Given the description of an element on the screen output the (x, y) to click on. 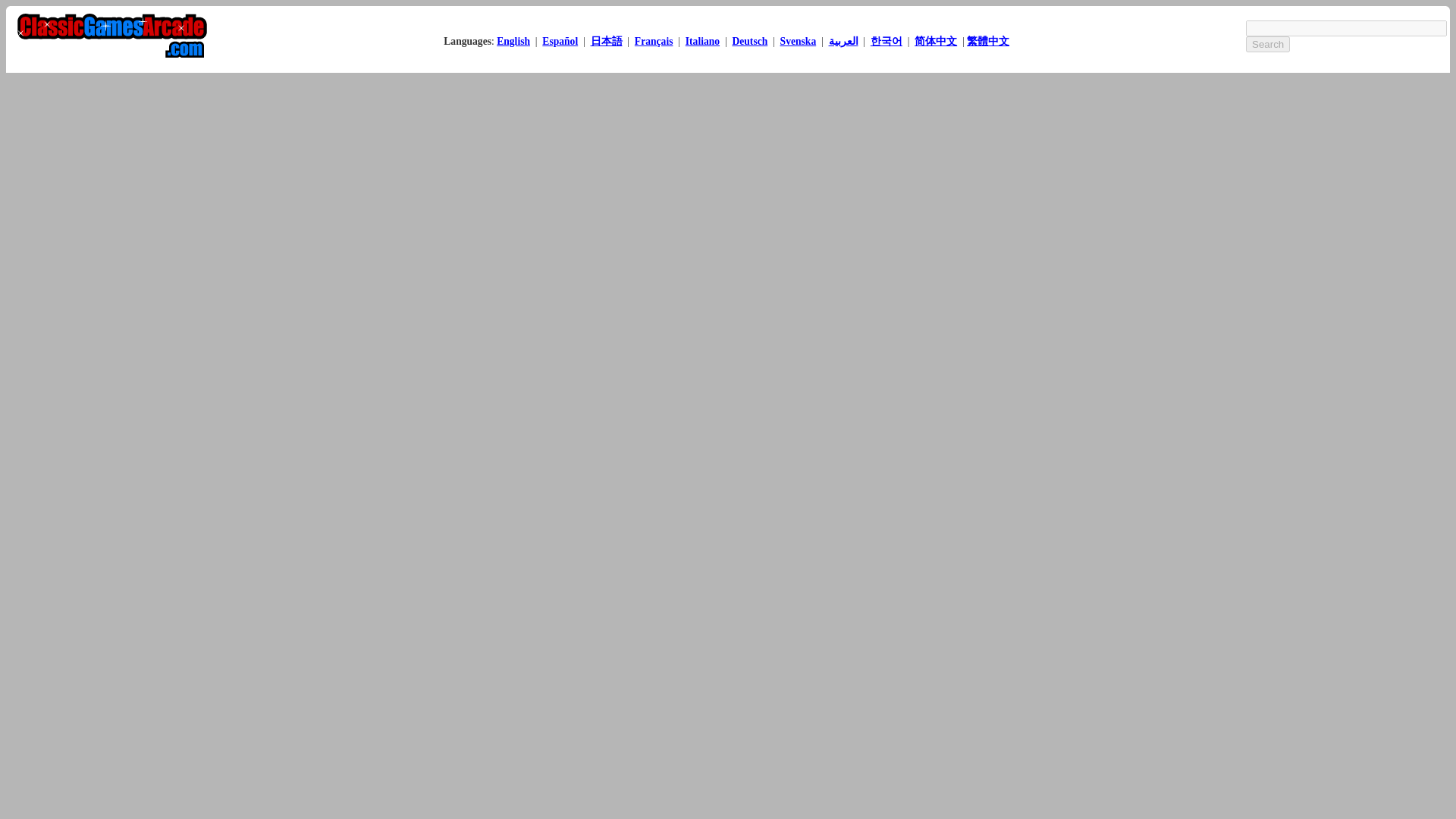
English Language Classic Games Arcade (512, 40)
English (512, 40)
Search (1268, 44)
Italiano (702, 40)
Svenska (798, 40)
Deutsch (749, 40)
Search (1268, 44)
Classic Games Arcade (798, 40)
